Given the description of an element on the screen output the (x, y) to click on. 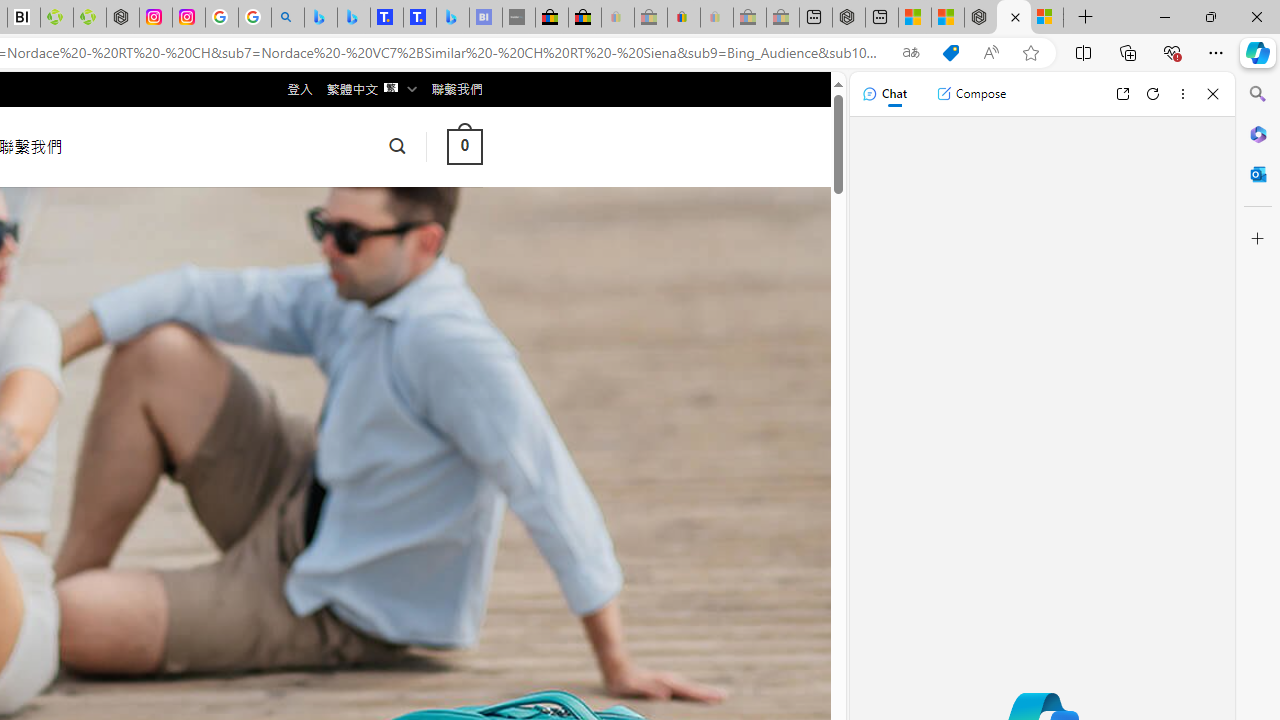
Microsoft Bing Travel - Shangri-La Hotel Bangkok (452, 17)
  0   (464, 146)
Nordace - Summer Adventures 2024 (1014, 17)
Chat (884, 93)
Safety in Our Products - Google Safety Center (222, 17)
Show translate options (910, 53)
